Given the description of an element on the screen output the (x, y) to click on. 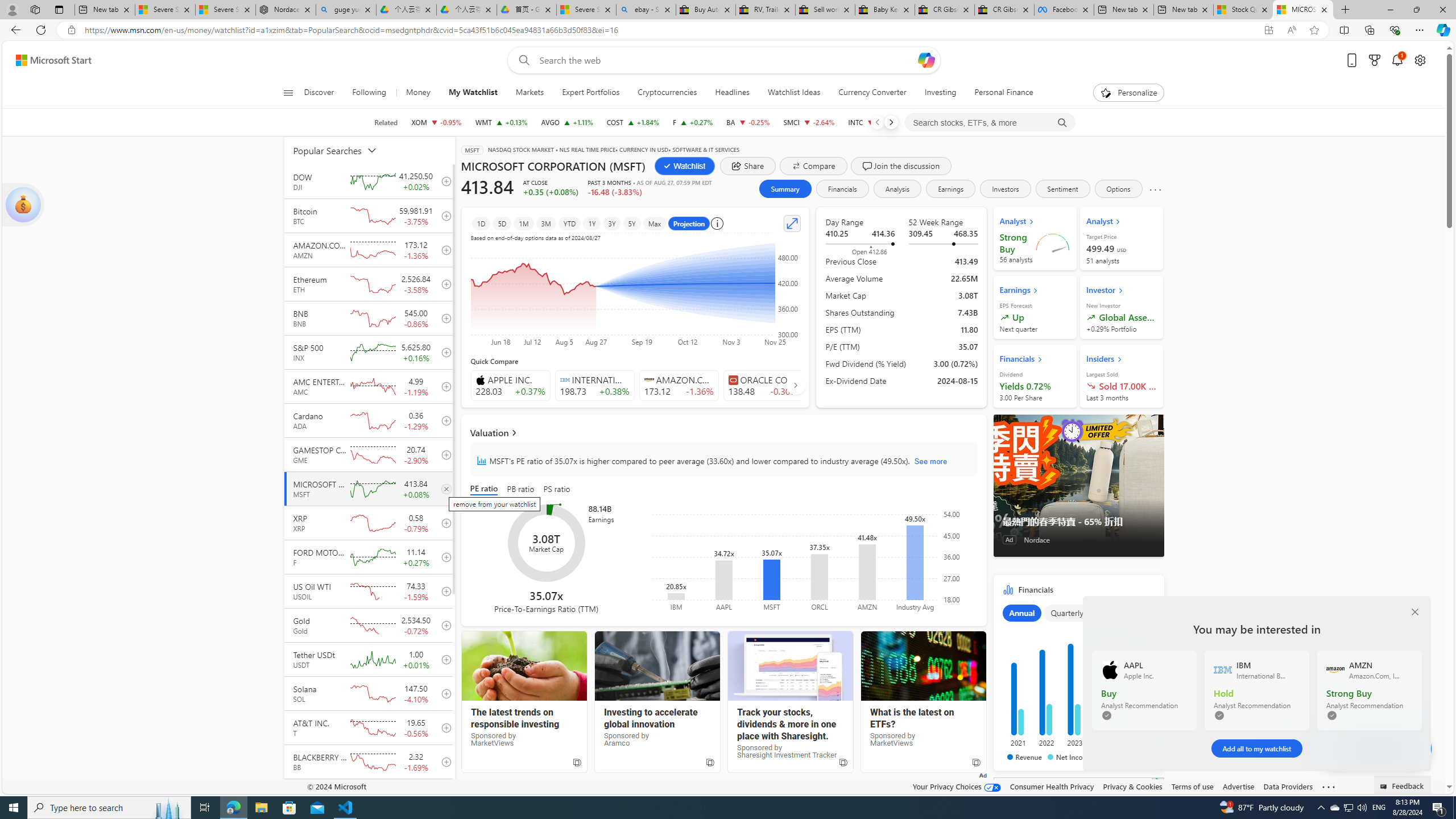
Class: recharts-surface (811, 559)
Max (654, 223)
Expert Portfolios (591, 92)
Terms of use (1192, 785)
Sell worldwide with eBay (825, 9)
Class: cwt-icon-vector (1395, 748)
Advertise (1238, 785)
Class: button-glyph (287, 92)
Open settings (1420, 60)
Class: card_head_icon_lightMode-DS-EntryPoint1-1 (1119, 358)
